Given the description of an element on the screen output the (x, y) to click on. 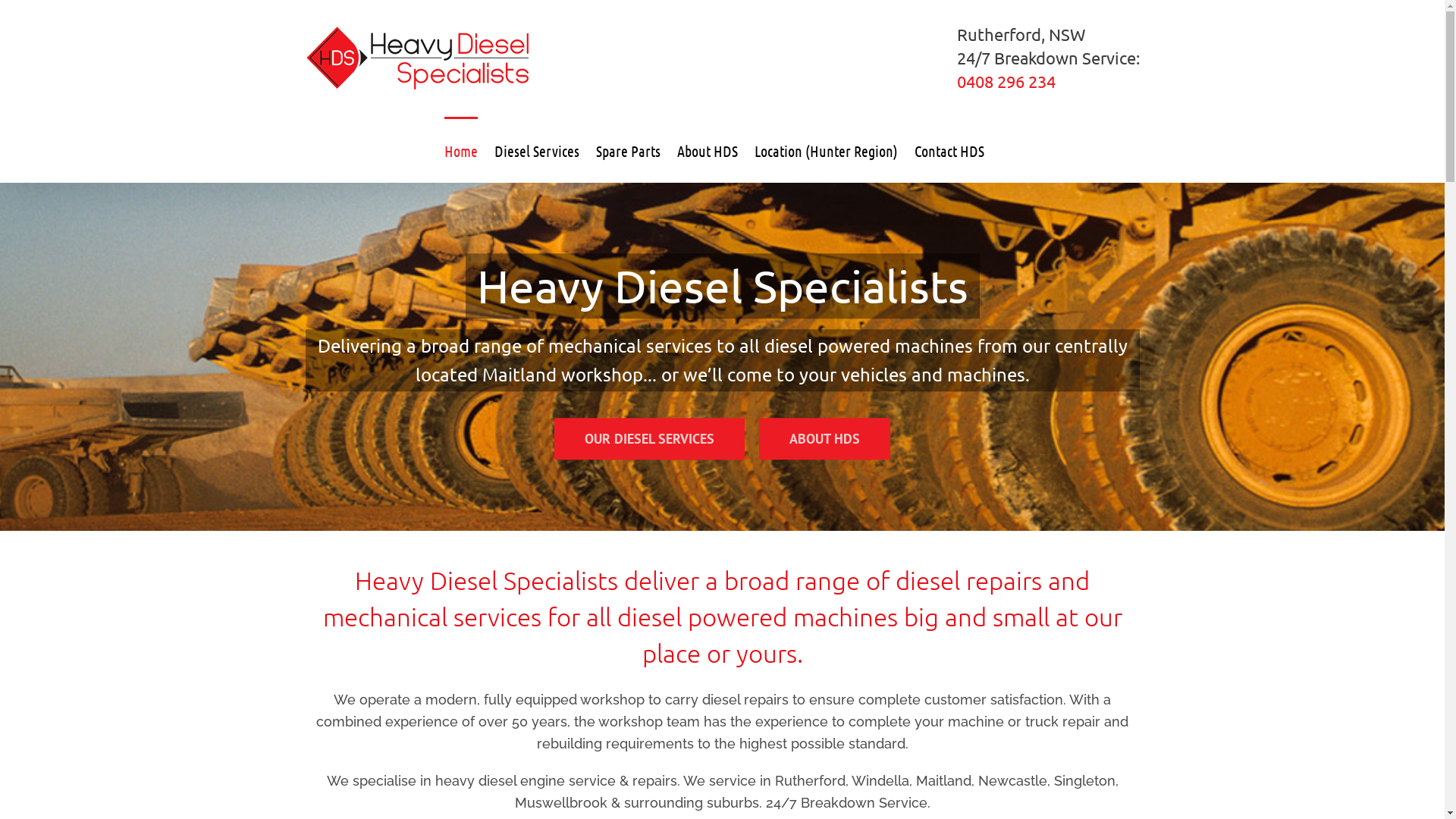
Spare Parts Element type: text (628, 149)
Location (Hunter Region) Element type: text (825, 149)
Home Element type: text (460, 149)
OUR DIESEL SERVICES Element type: text (649, 439)
Contact HDS Element type: text (949, 149)
ABOUT HDS Element type: text (824, 439)
Diesel Services Element type: text (536, 149)
0408 296 234 Element type: text (1006, 81)
About HDS Element type: text (706, 149)
